Given the description of an element on the screen output the (x, y) to click on. 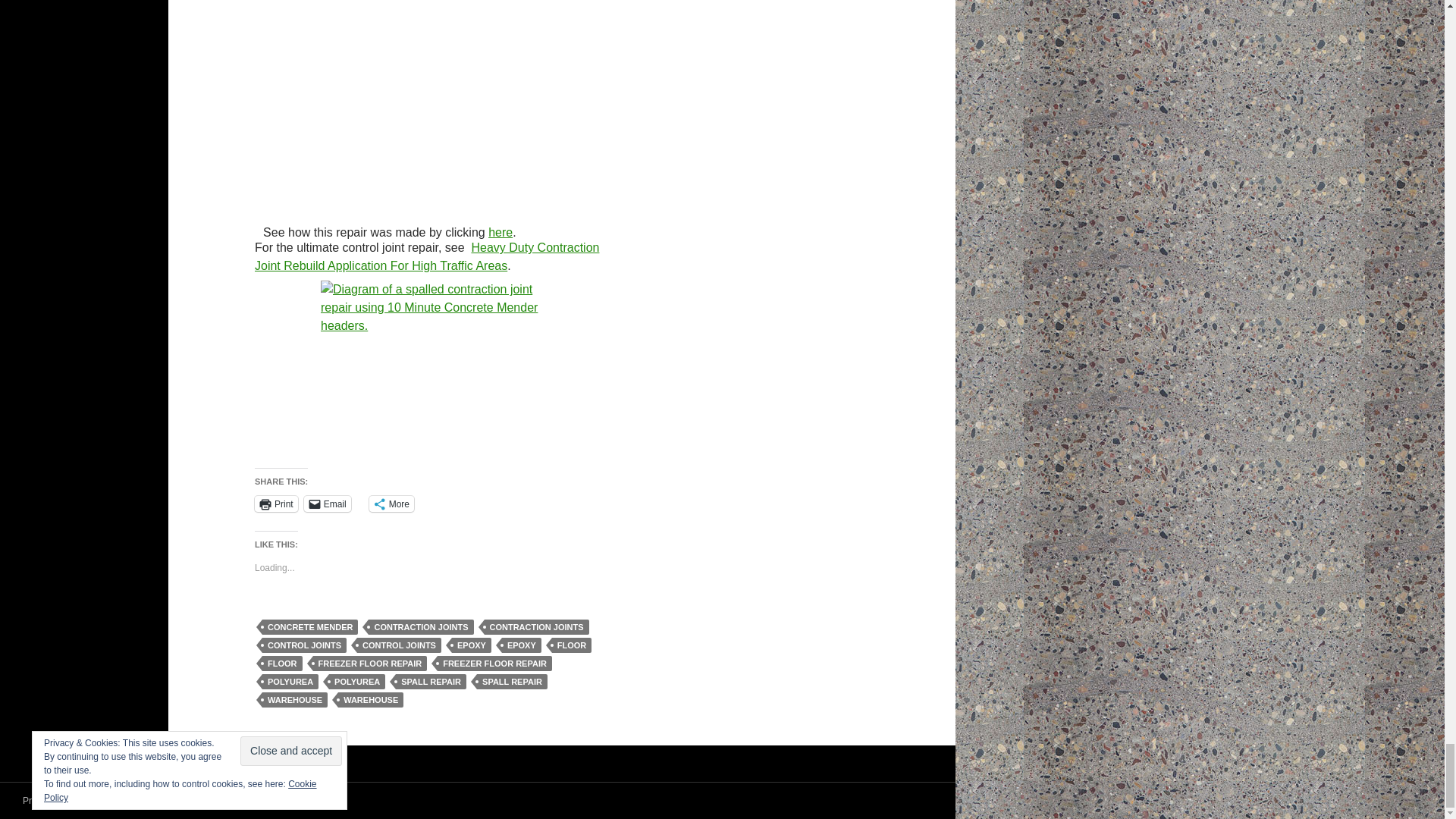
Click to email a link to a friend (327, 503)
Click to print (276, 503)
